Given the description of an element on the screen output the (x, y) to click on. 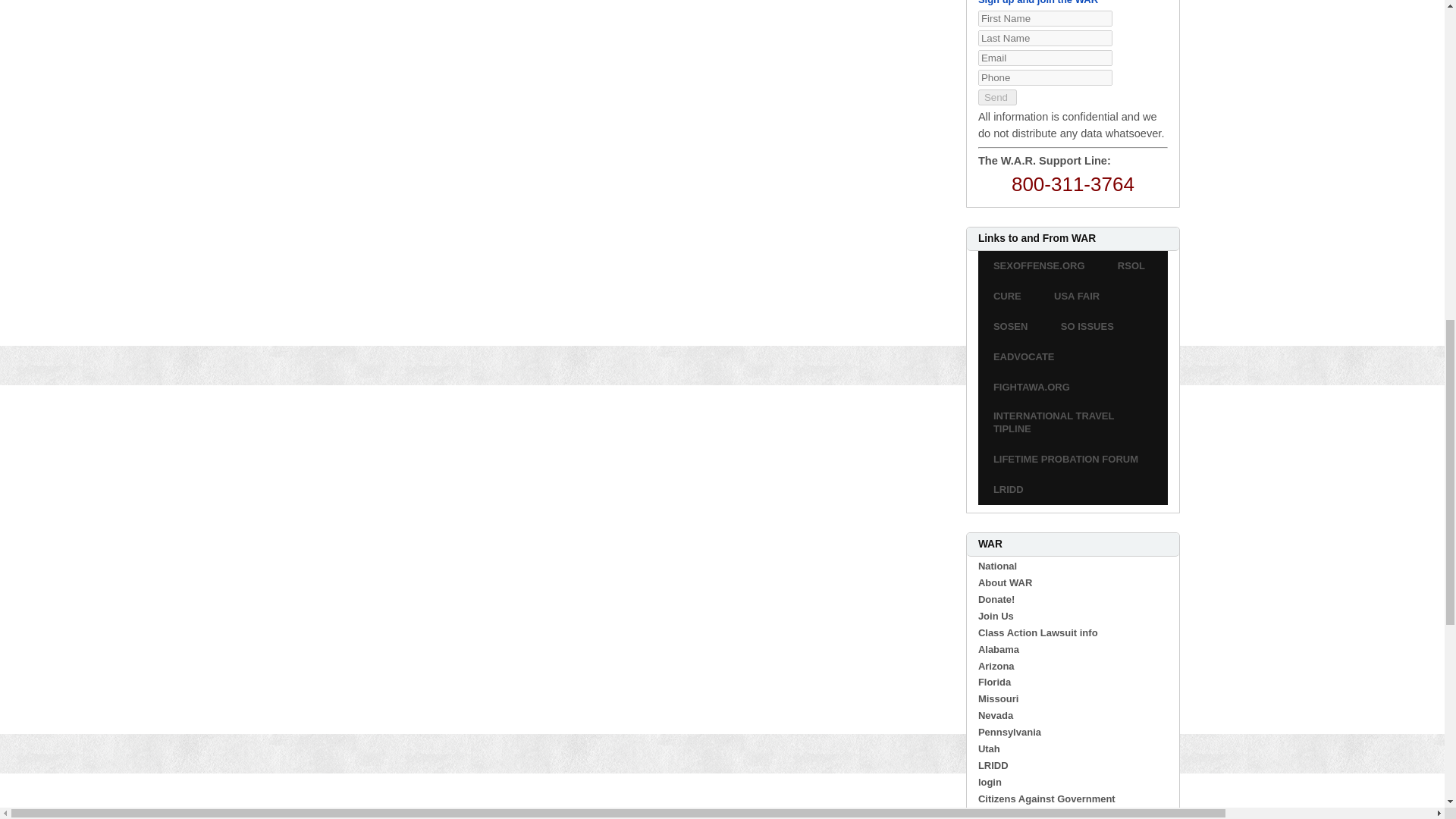
SEXOFFENSE.ORG (1039, 266)
INTERNATIONAL TRAVEL TIPLINE (1072, 422)
FIGHTAWA.ORG (1031, 387)
Send  (997, 97)
SO ISSUES (1087, 326)
SOSEN (1010, 326)
RSOL (1131, 266)
Donate! (996, 599)
National (997, 565)
USA FAIR (1077, 296)
EADVOCATE (1024, 357)
LRIDD (1008, 489)
CURE (1007, 296)
About WAR (1005, 582)
Send  (997, 97)
